Given the description of an element on the screen output the (x, y) to click on. 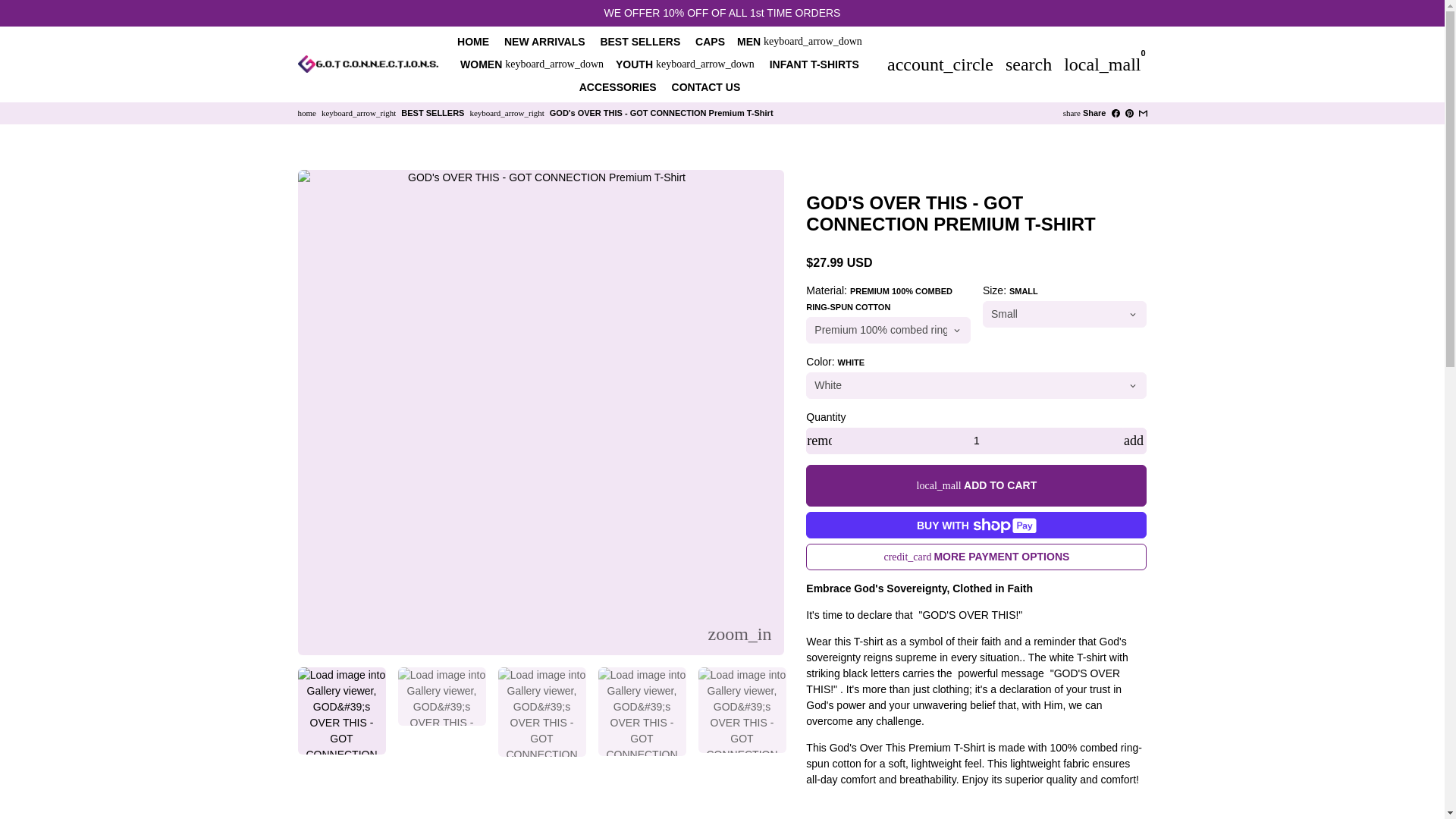
Log In (939, 63)
G.o.t. c.o.n.n.e.c.t.i.o.n.s. gods over this g.o.t. (306, 112)
HOME (473, 41)
Share on Facebook (1115, 112)
BEST SELLERS (639, 41)
CAPS (709, 41)
Search (1028, 63)
1 (976, 440)
Share by Email (1142, 112)
Pin on Pinterest (1129, 112)
Cart (1102, 63)
NEW ARRIVALS (544, 41)
